Given the description of an element on the screen output the (x, y) to click on. 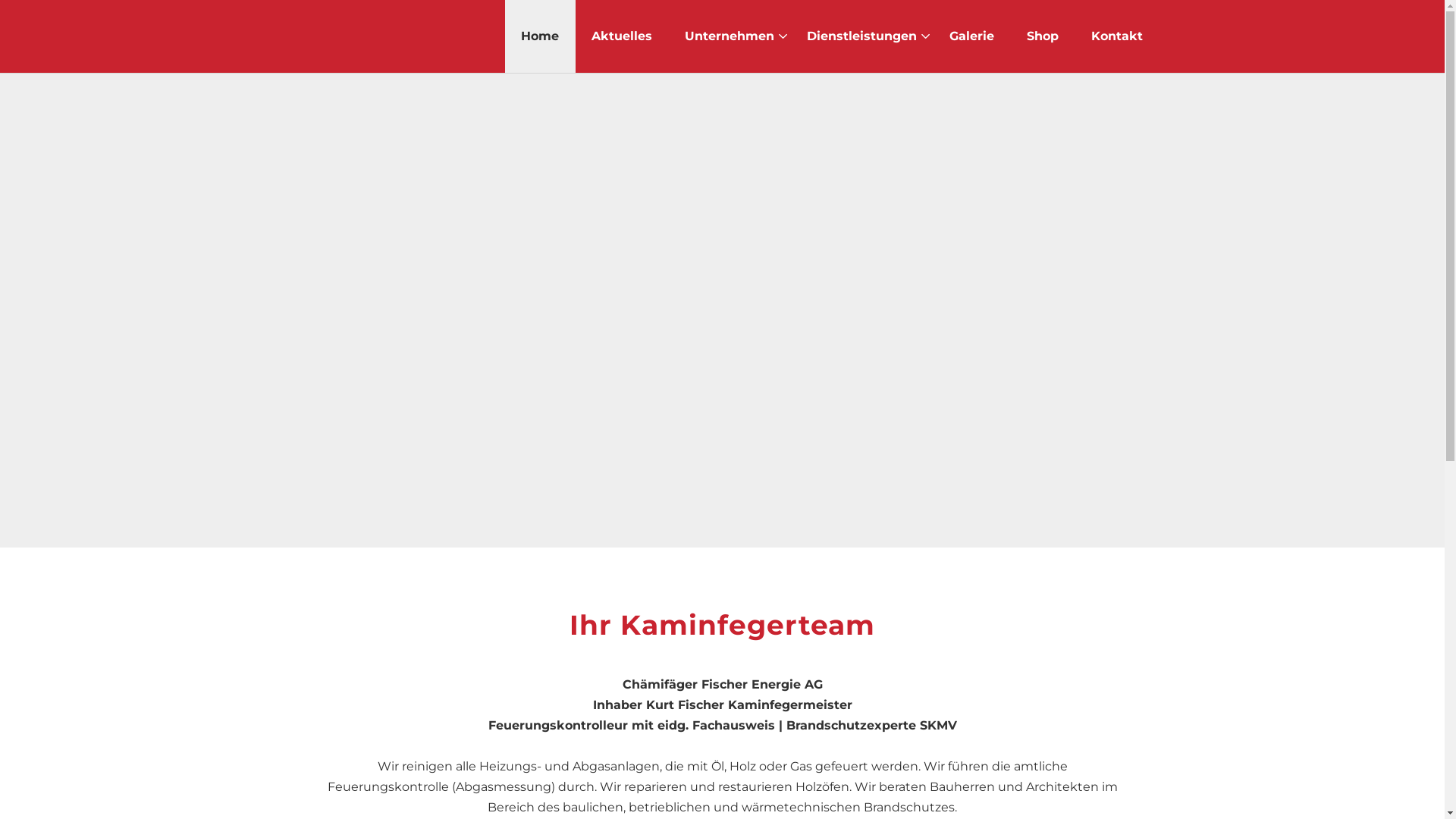
Shop Element type: text (1042, 35)
Dienstleistungen Element type: text (861, 35)
Aktuelles Element type: text (621, 35)
Home Element type: text (539, 35)
Kontakt Element type: text (1116, 35)
Unternehmen Element type: text (728, 35)
Galerie Element type: text (971, 35)
